Given the description of an element on the screen output the (x, y) to click on. 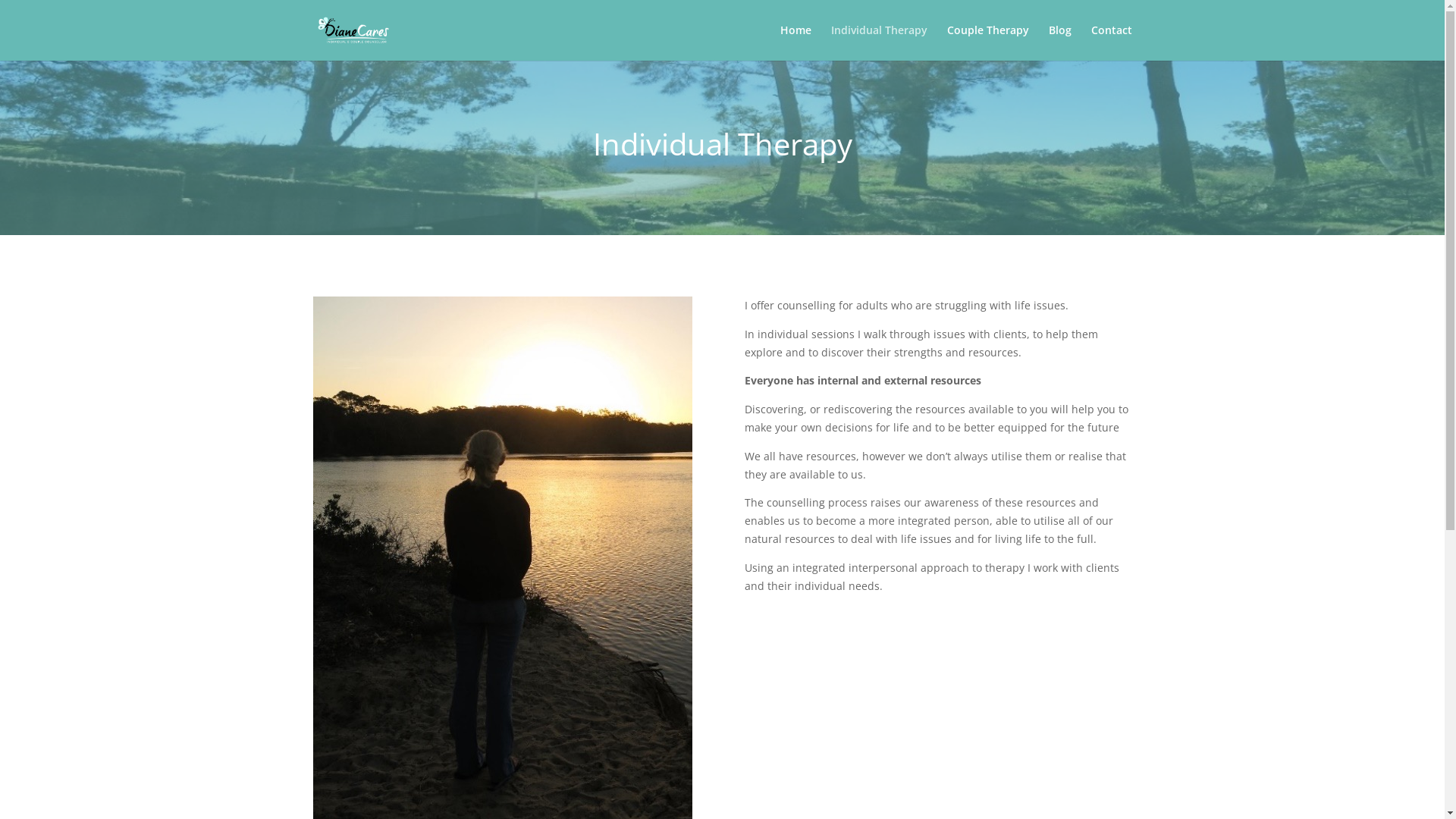
Couple Therapy Element type: text (987, 42)
Blog Element type: text (1059, 42)
Contact Element type: text (1110, 42)
Home Element type: text (794, 42)
Individual Therapy Element type: text (879, 42)
